Given the description of an element on the screen output the (x, y) to click on. 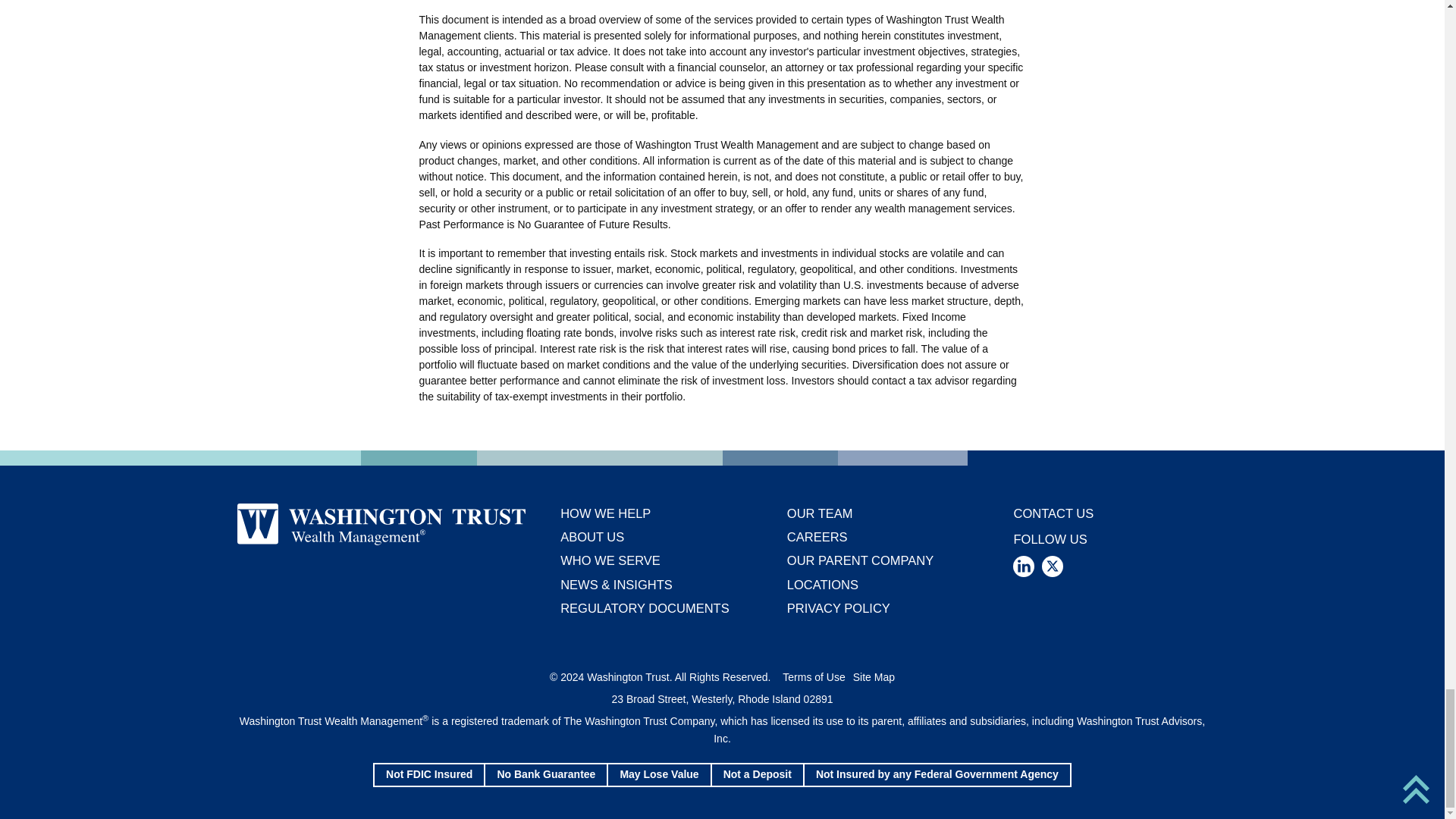
Site Map (874, 676)
LINKEDIN (1023, 566)
LOCATIONS (823, 584)
OUR TEAM (820, 513)
PRIVACY POLICY (838, 608)
REGULATORY DOCUMENTS (644, 608)
WHO WE SERVE (610, 560)
CONTACT US (1053, 513)
HOW WE HELP (605, 513)
CAREERS (817, 536)
OUR PARENT COMPANY (860, 560)
TWITTER (1052, 566)
ABOUT US (592, 536)
Terms of Use (813, 676)
